Given the description of an element on the screen output the (x, y) to click on. 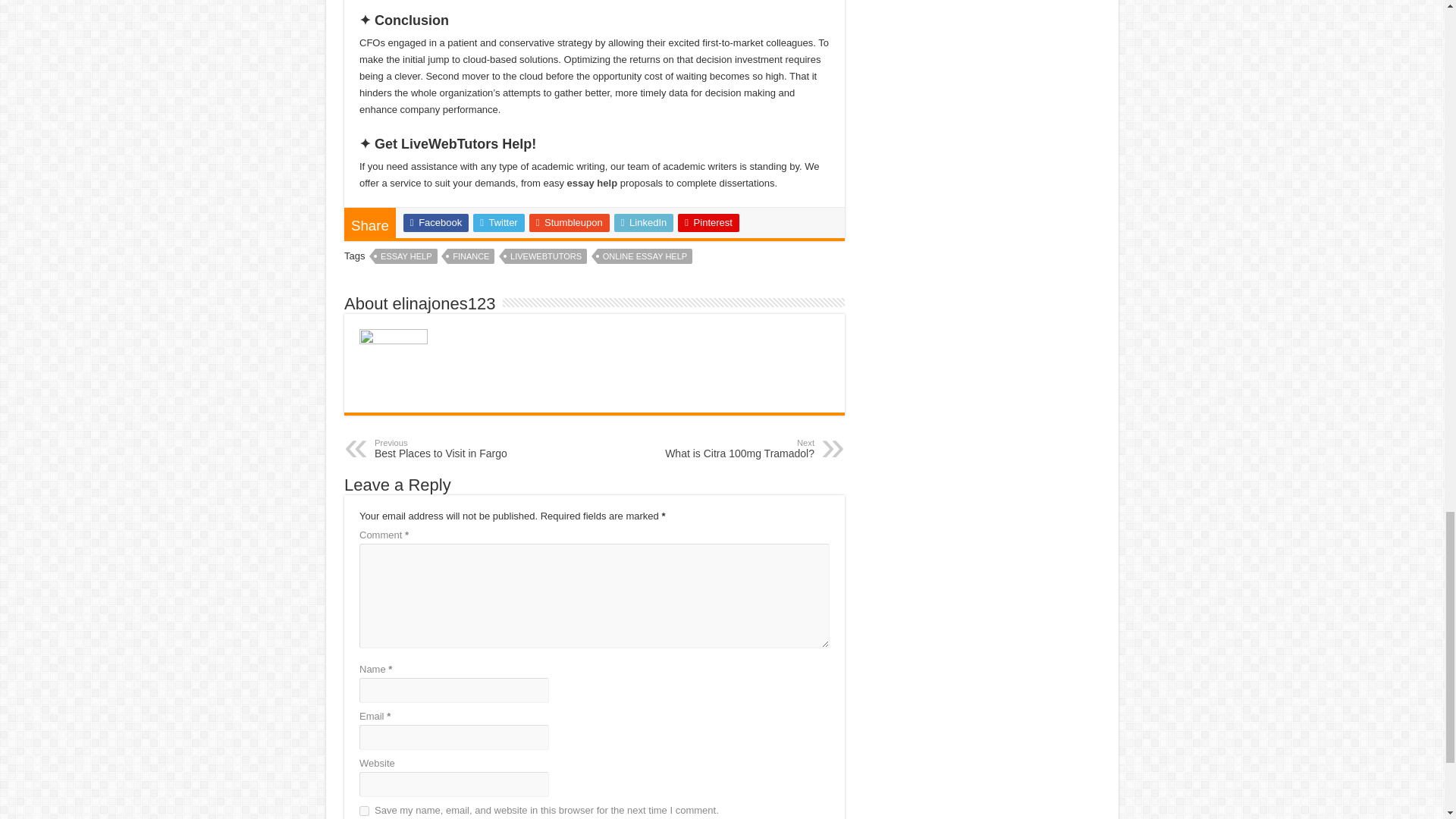
yes (364, 810)
